Given the description of an element on the screen output the (x, y) to click on. 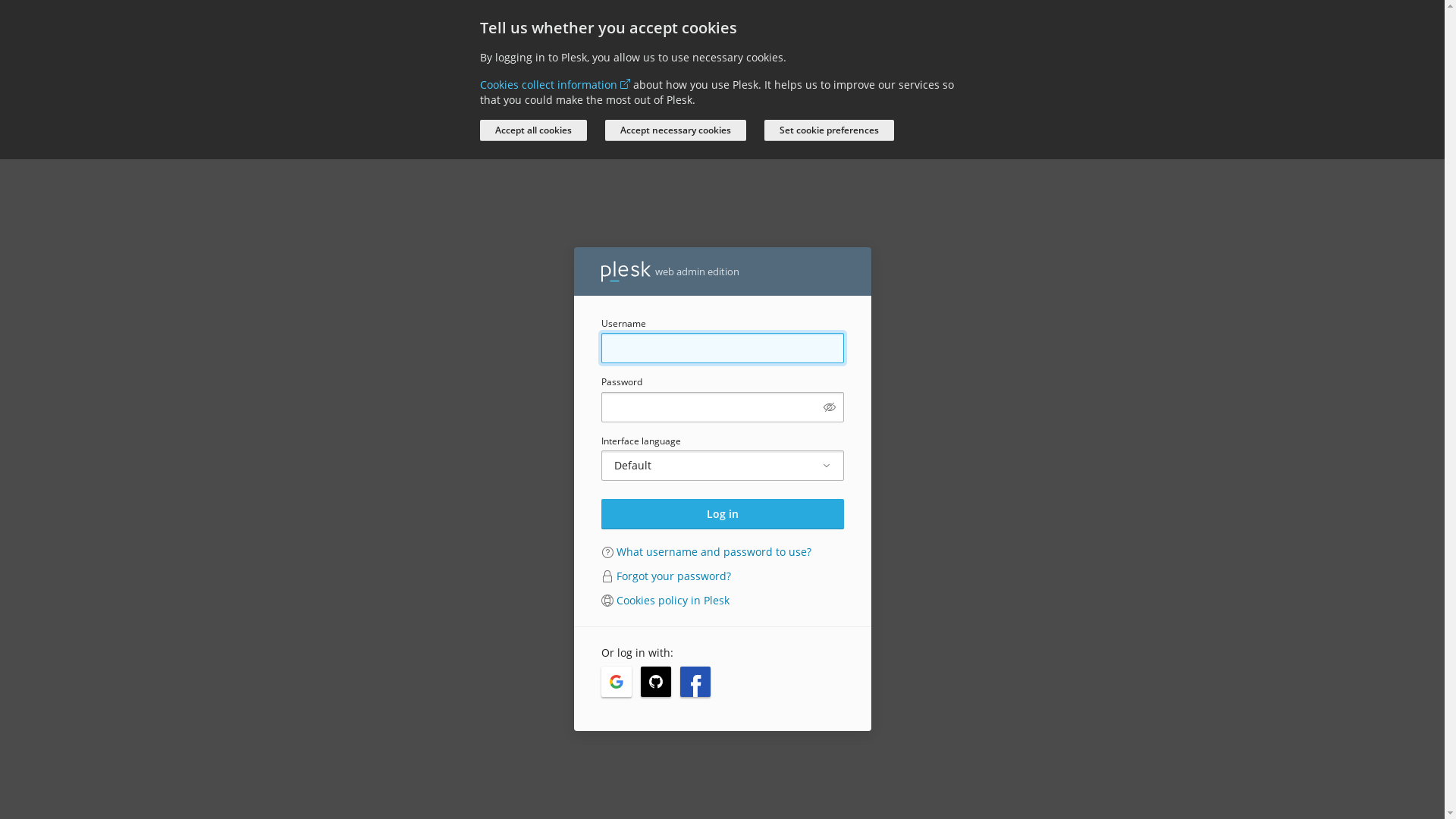
Set cookie preferences Element type: text (829, 130)
Forgot your password? Element type: text (672, 575)
Facebook Element type: hover (694, 681)
Cookies collect information Element type: text (554, 84)
Accept necessary cookies Element type: text (675, 130)
GitHub Element type: hover (655, 681)
web admin edition Element type: text (669, 271)
Google Element type: hover (615, 681)
What username and password to use? Element type: text (712, 551)
Cookies policy in Plesk Element type: text (671, 600)
Accept all cookies Element type: text (532, 130)
Log in Element type: text (721, 513)
